Given the description of an element on the screen output the (x, y) to click on. 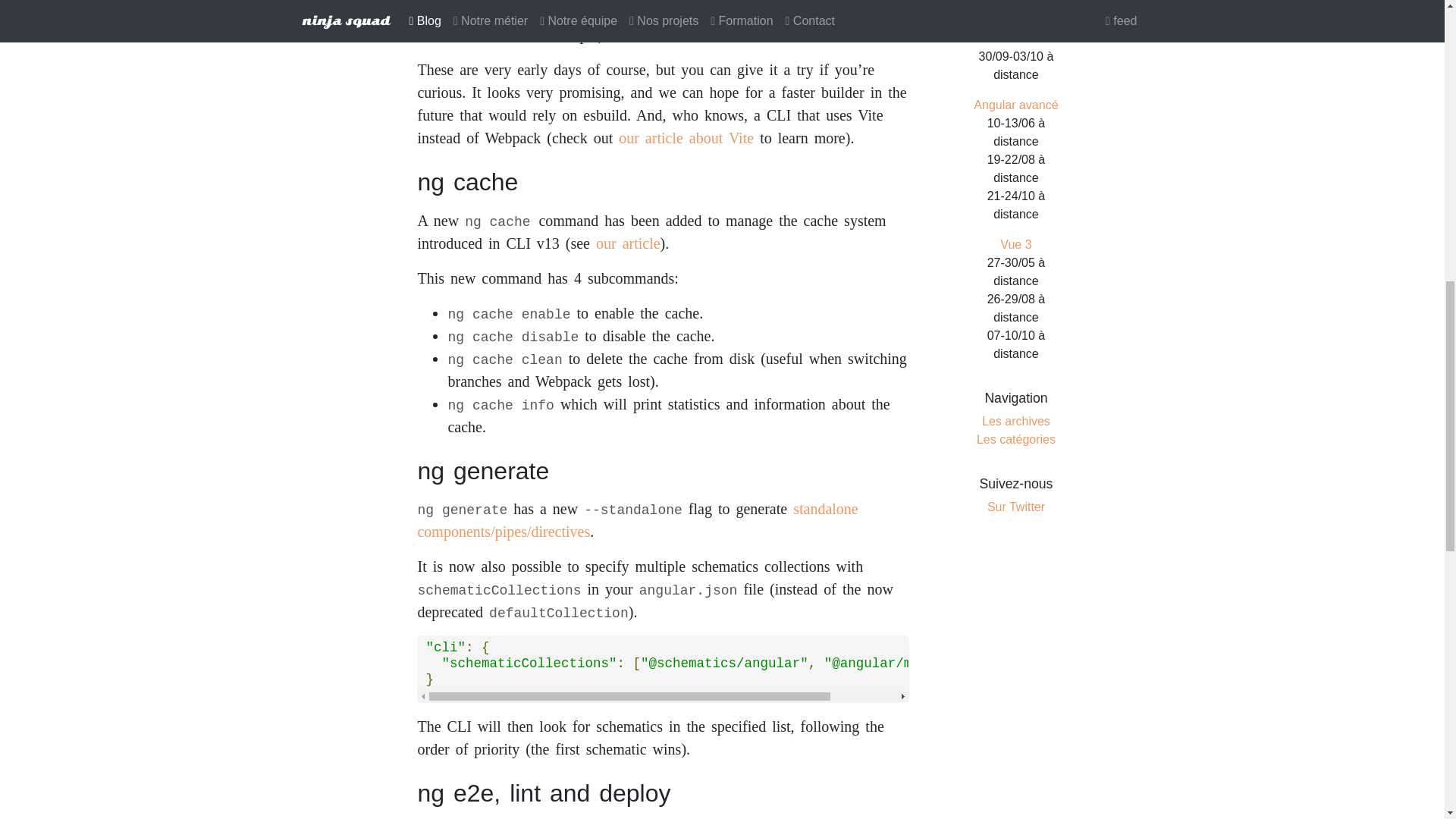
our article (628, 243)
Vue 3 (1015, 244)
Ninja Squad sur Twitter (1016, 506)
Les archives (1015, 420)
our article about Vite (686, 137)
Sur Twitter (1016, 506)
